Given the description of an element on the screen output the (x, y) to click on. 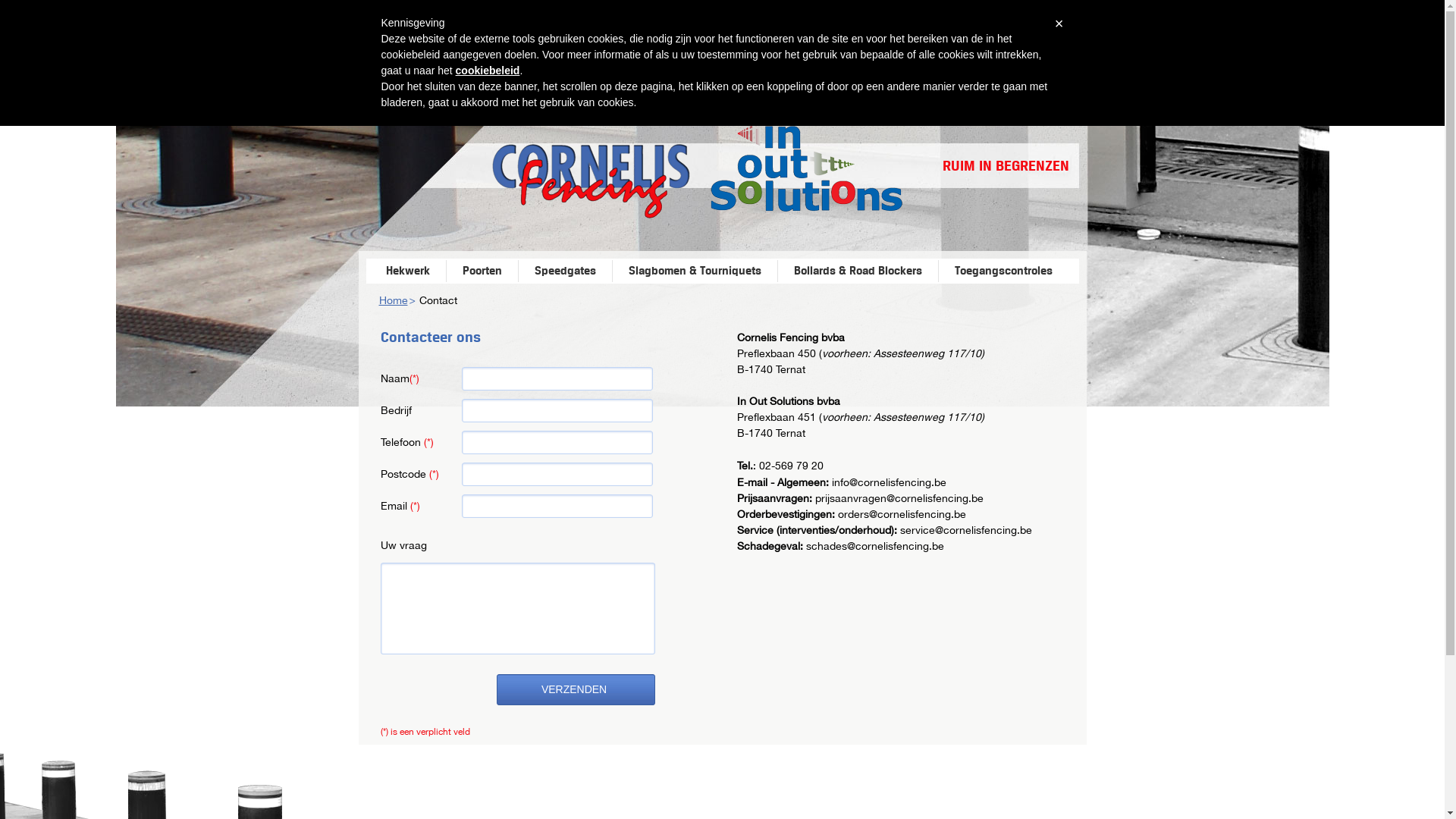
Onderhoud & herstellingen Element type: text (703, 29)
Toegangscontroles Element type: text (1002, 270)
cookiebeleid Element type: text (487, 70)
prijsaanvragen@cornelisfencing.be Element type: text (898, 498)
Home Element type: text (624, 29)
Contact Element type: text (1021, 29)
FR Element type: text (1072, 64)
Home Element type: text (393, 300)
Referenties Element type: text (783, 29)
Over Cornelis Fencing Element type: text (862, 29)
Speedgates Element type: text (564, 270)
Bollards & Road Blockers Element type: text (856, 270)
schades@cornelisfencing.be Element type: text (874, 545)
orders@cornelisfencing.be Element type: text (901, 514)
RUIM IN BEGRENZEN Element type: text (1004, 164)
NL Element type: text (1051, 64)
Hekwerk Element type: text (406, 270)
Verzenden  Element type: text (574, 689)
Poorten Element type: text (482, 270)
service@cornelisfencing.be Element type: text (965, 530)
Vacatures Element type: text (942, 29)
Slagbomen & Tourniquets Element type: text (694, 270)
info@cornelisfencing.be Element type: text (888, 482)
